Given the description of an element on the screen output the (x, y) to click on. 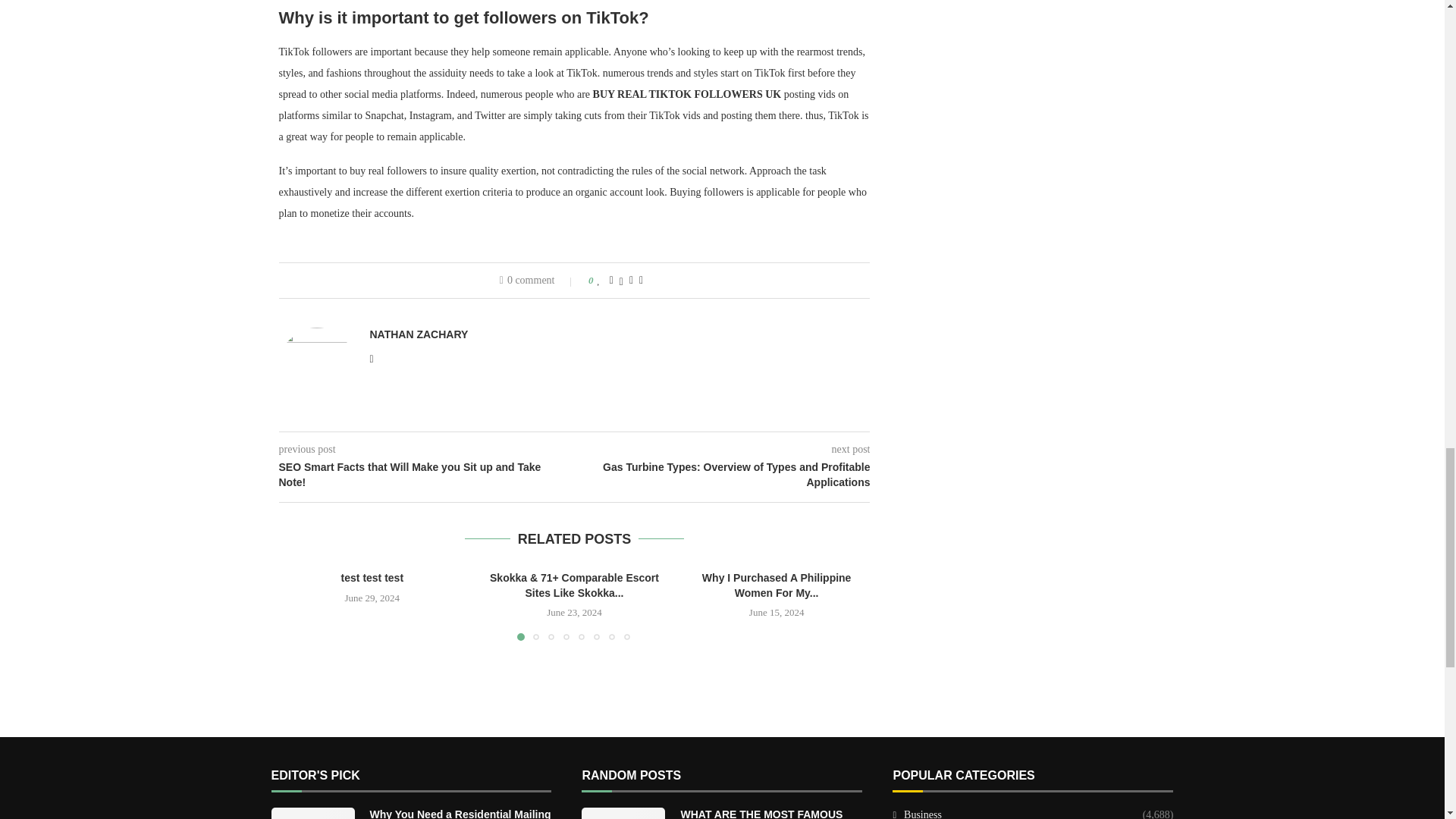
Author Nathan Zachary (418, 334)
test test test (371, 577)
NATHAN ZACHARY (418, 334)
SEO Smart Facts that Will Make you Sit up and Take Note! (427, 474)
Why I Purchased A Philippine Women For My... (776, 584)
